Given the description of an element on the screen output the (x, y) to click on. 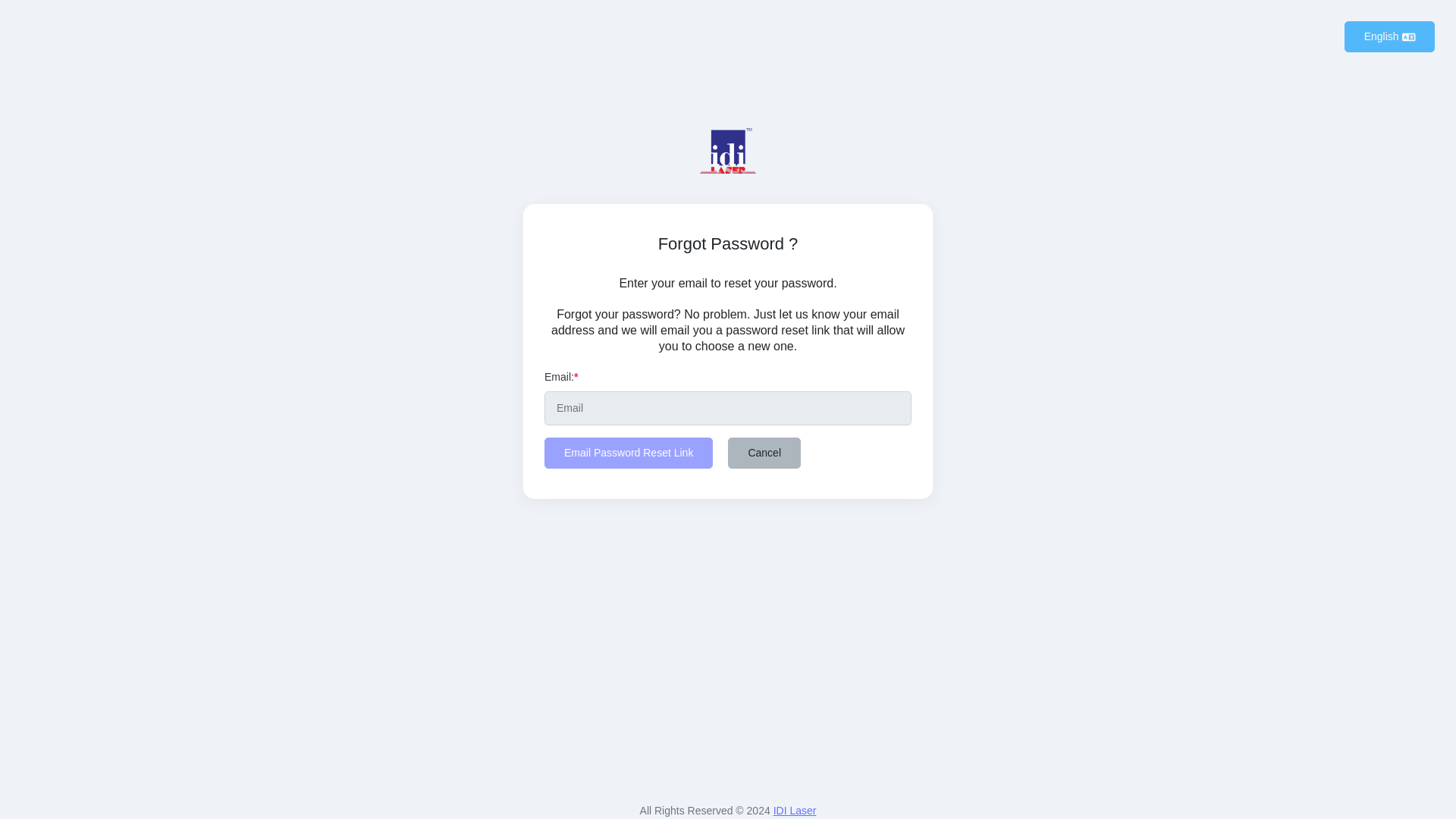
English (1388, 36)
Email Password Reset Link (628, 452)
Active (1388, 36)
Cancel (764, 452)
IDI Laser (794, 810)
